Given the description of an element on the screen output the (x, y) to click on. 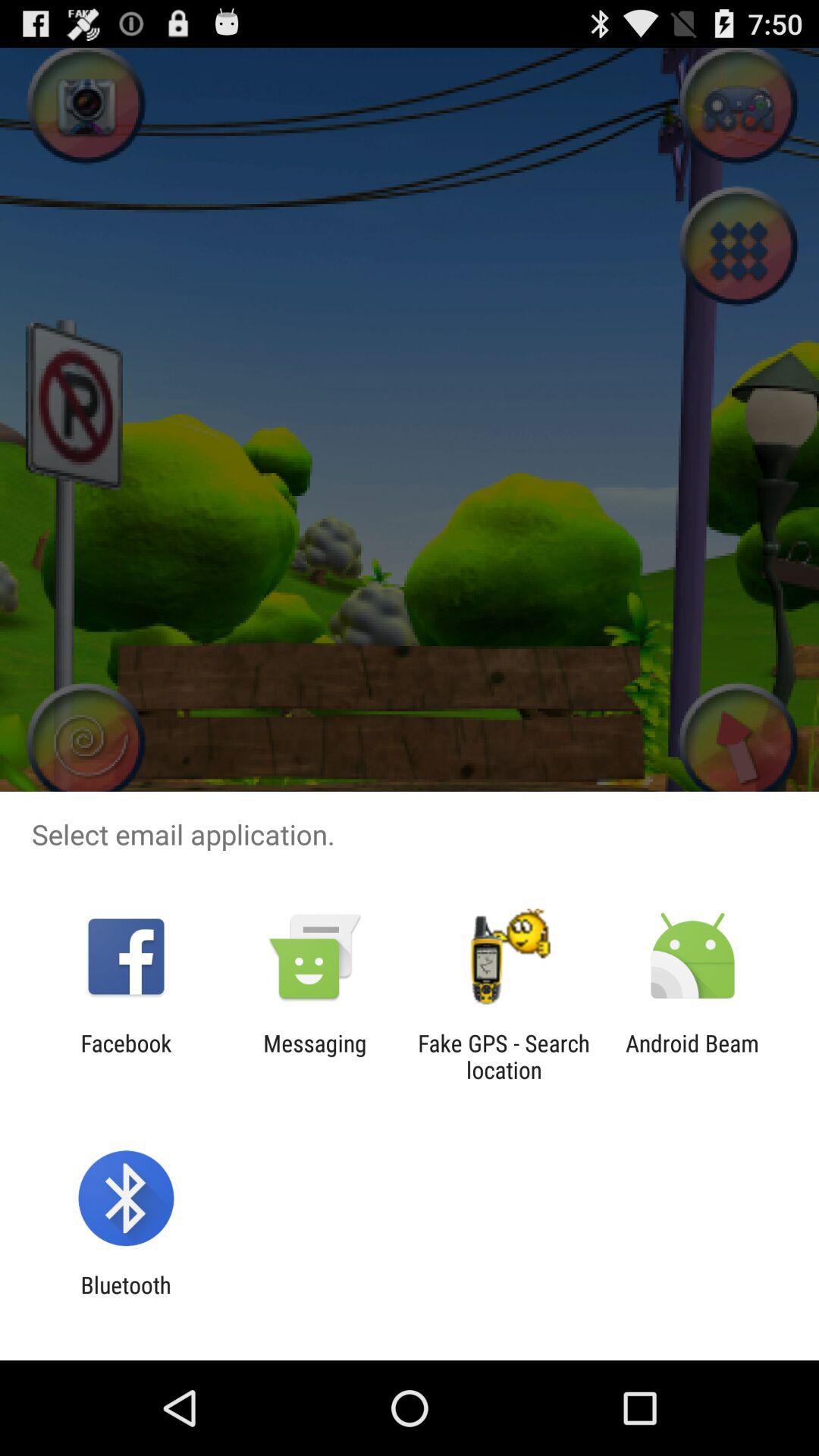
press the icon to the left of the fake gps search app (314, 1056)
